Given the description of an element on the screen output the (x, y) to click on. 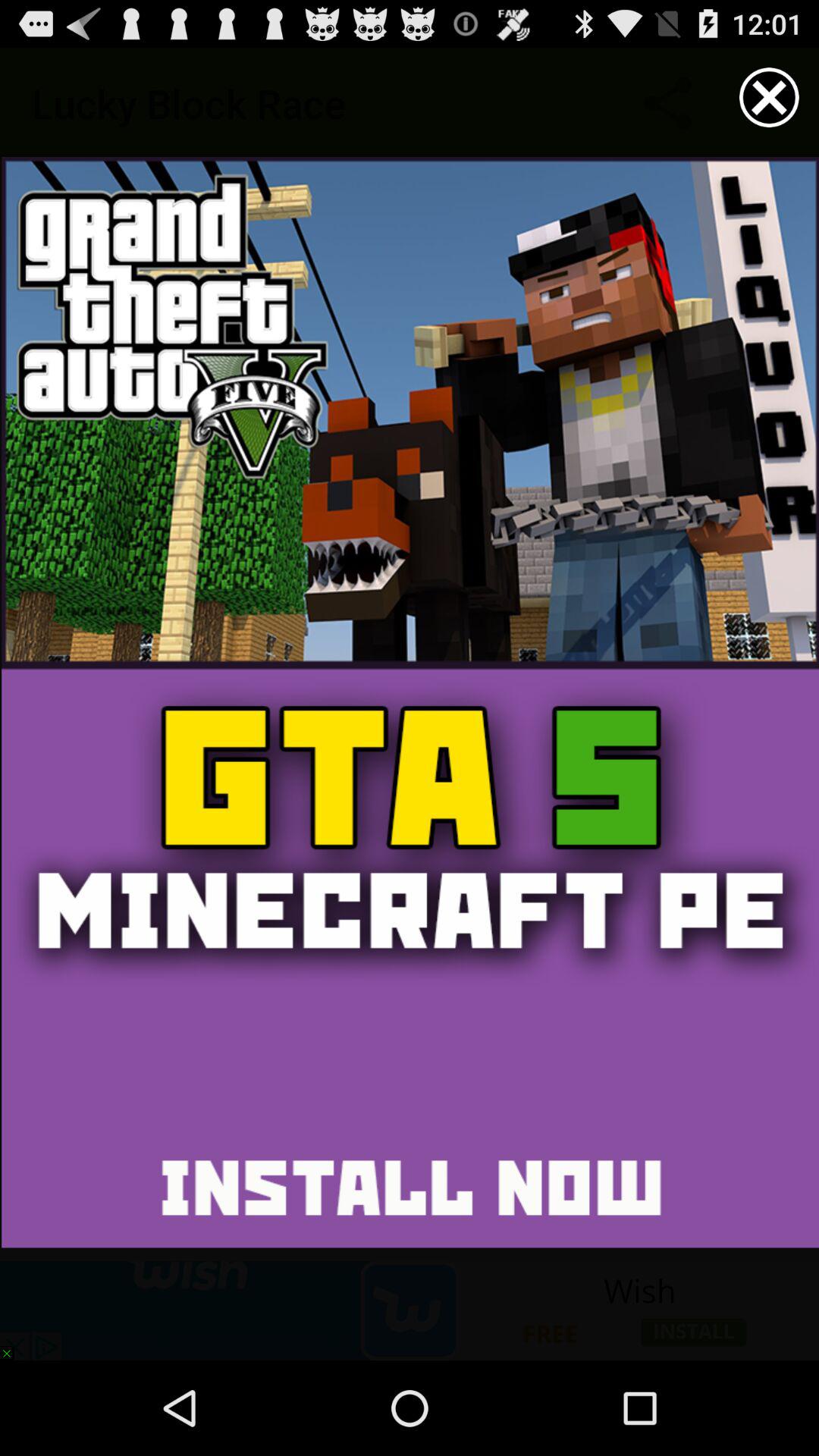
close window (769, 97)
